Given the description of an element on the screen output the (x, y) to click on. 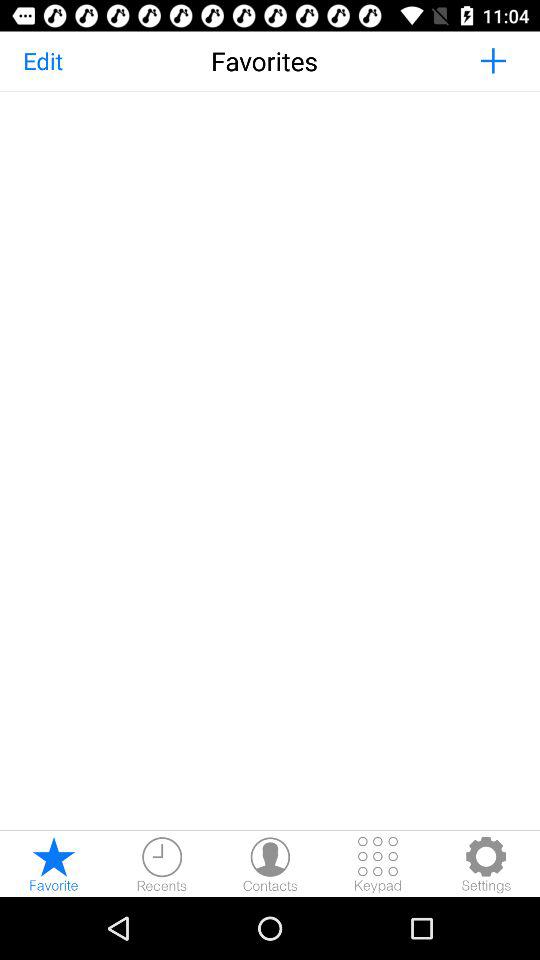
favorite page (53, 864)
